Given the description of an element on the screen output the (x, y) to click on. 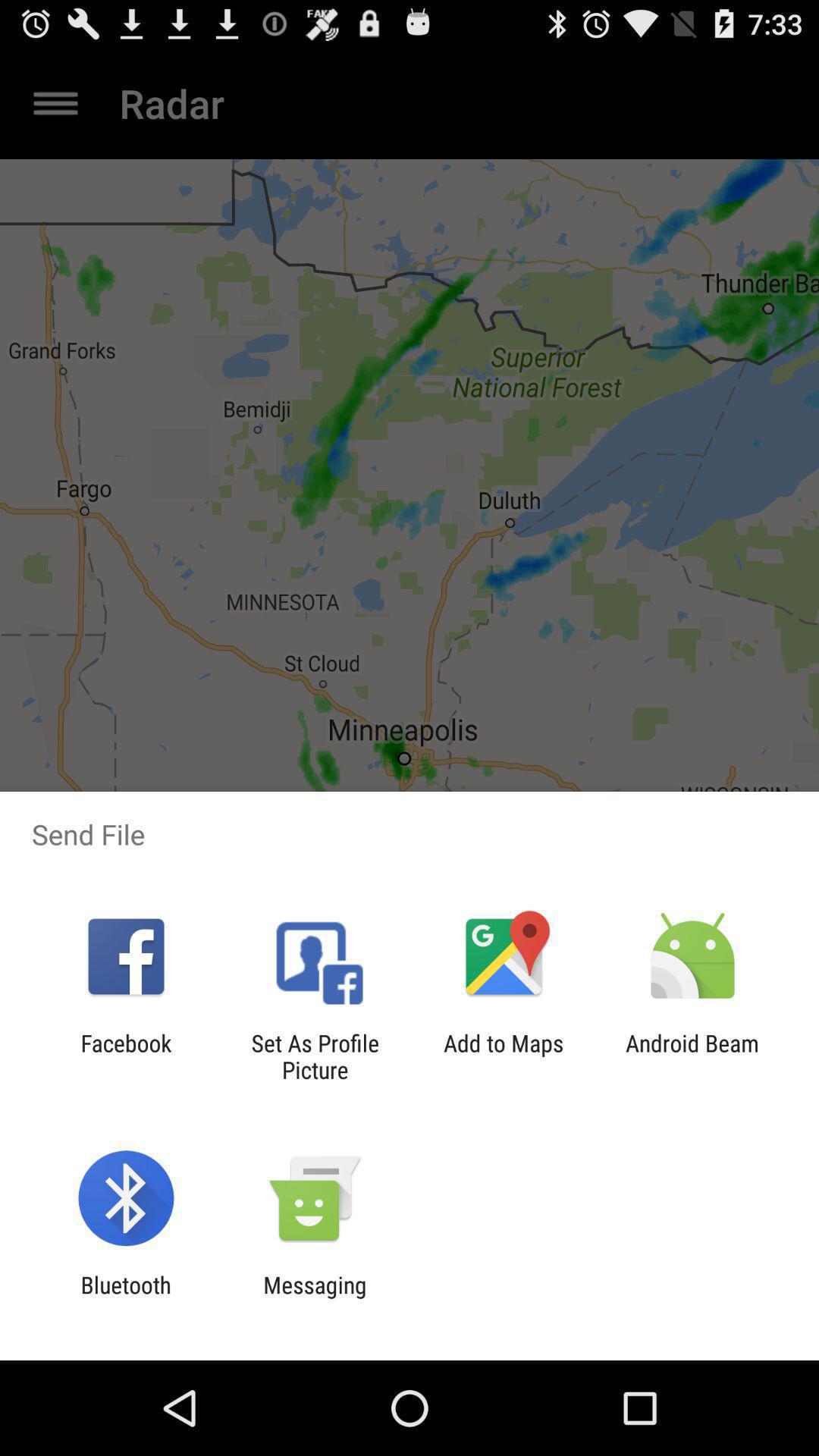
select the set as profile icon (314, 1056)
